Given the description of an element on the screen output the (x, y) to click on. 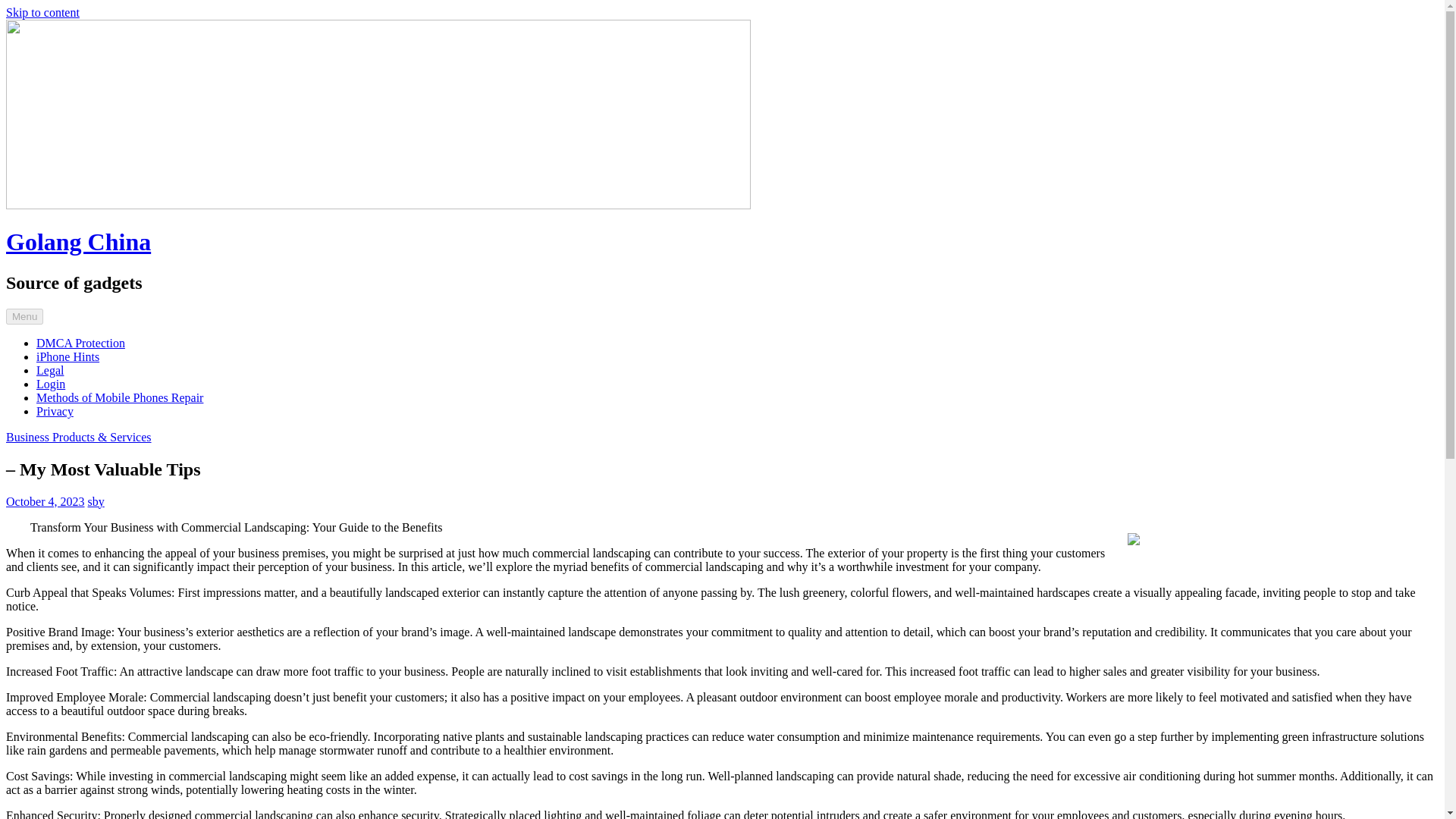
Legal (50, 369)
iPhone Hints (67, 356)
Skip to content (42, 11)
Privacy (55, 410)
Golang China (78, 241)
October 4, 2023 (44, 501)
DMCA Protection (80, 342)
sby (95, 501)
Login (50, 383)
Menu (24, 316)
